Given the description of an element on the screen output the (x, y) to click on. 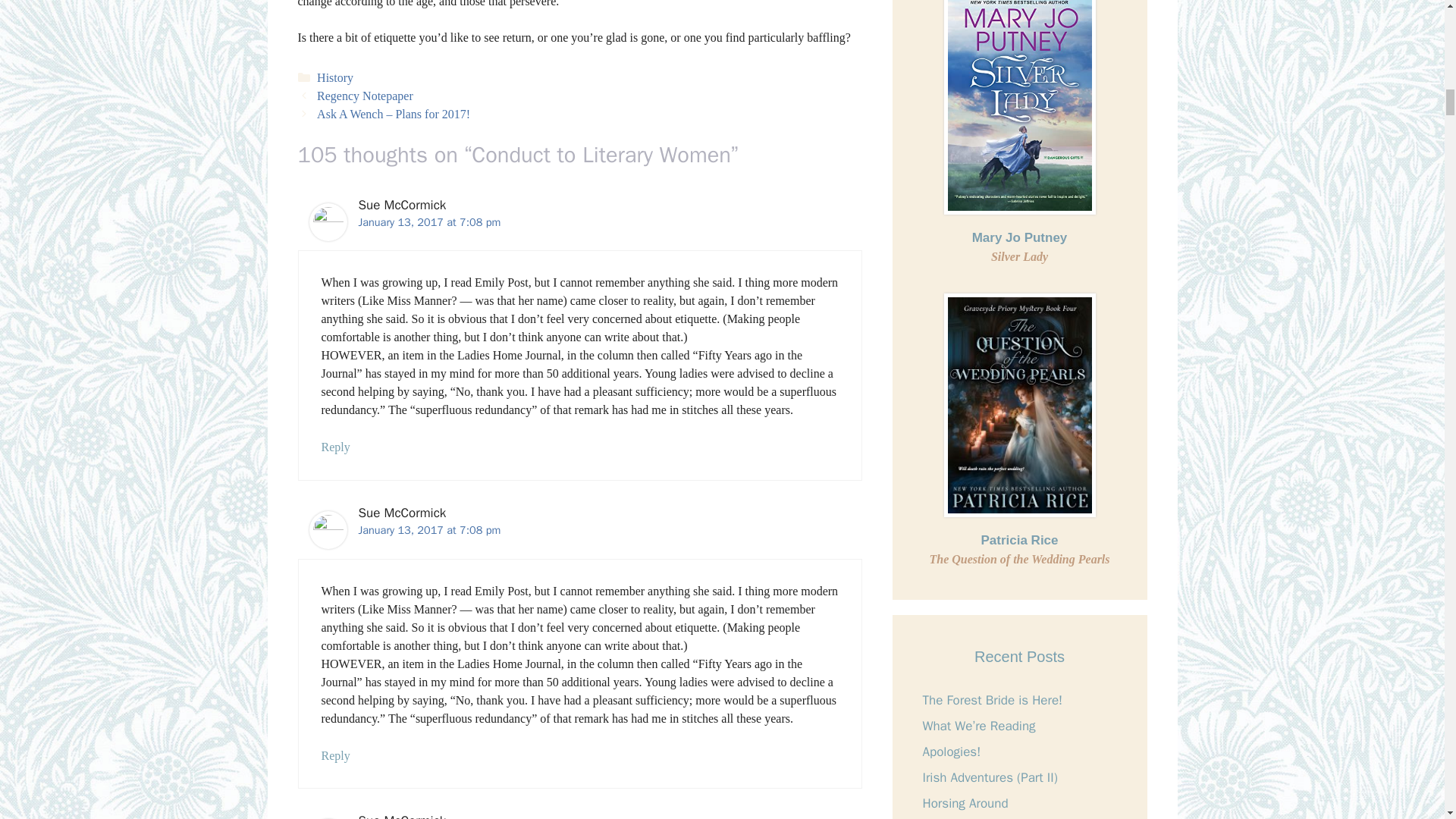
Reply (335, 446)
January 13, 2017 at 7:08 pm (429, 530)
Regency Notepaper (365, 95)
Reply (335, 755)
January 13, 2017 at 7:08 pm (429, 222)
History (335, 77)
